Given the description of an element on the screen output the (x, y) to click on. 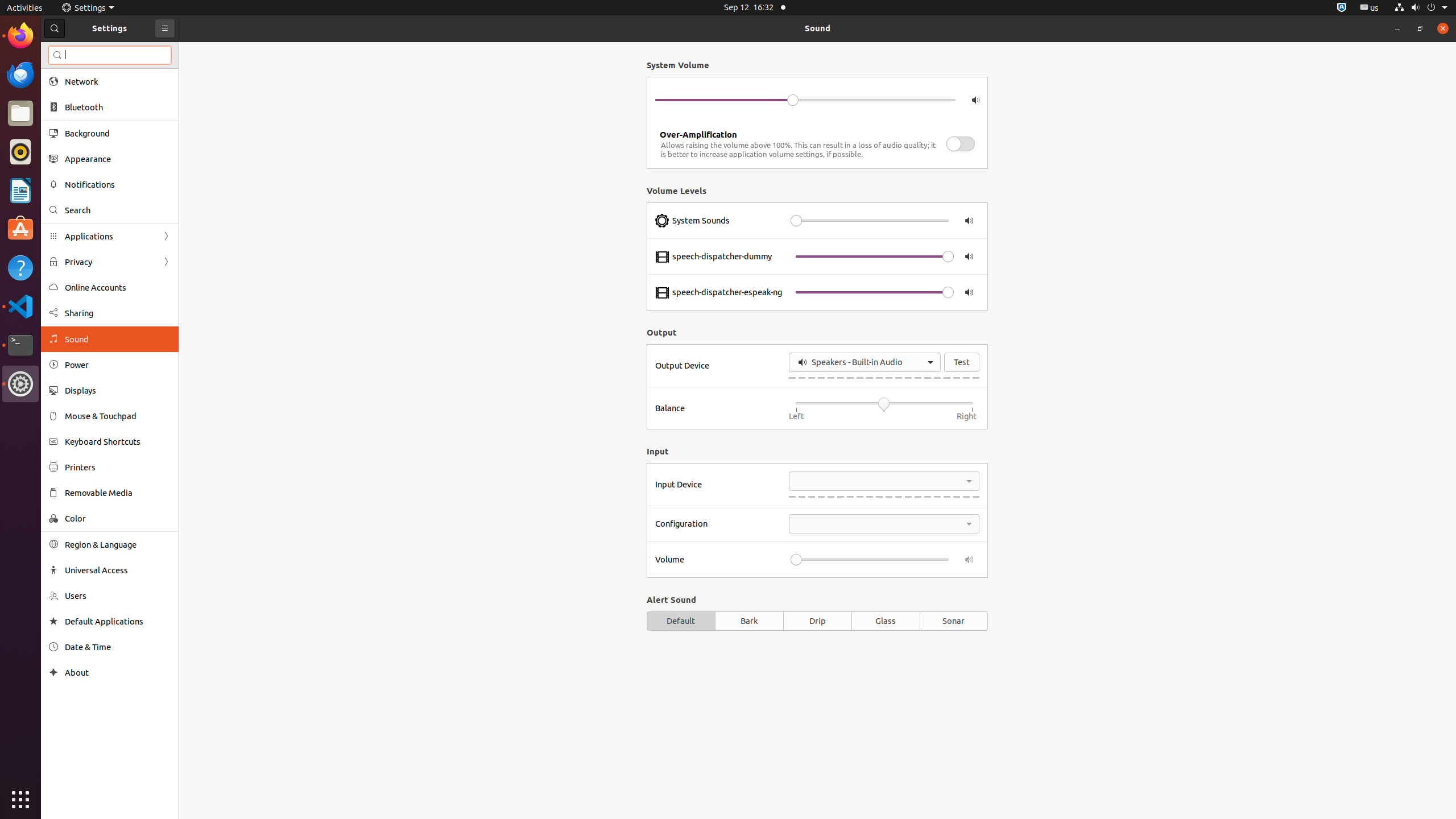
Settings Element type: push-button (20, 383)
IsaHelpMain.desktop Element type: label (75, 170)
Configuration Element type: label (718, 523)
Balance Element type: label (718, 407)
Sonar Element type: toggle-button (953, 620)
